Given the description of an element on the screen output the (x, y) to click on. 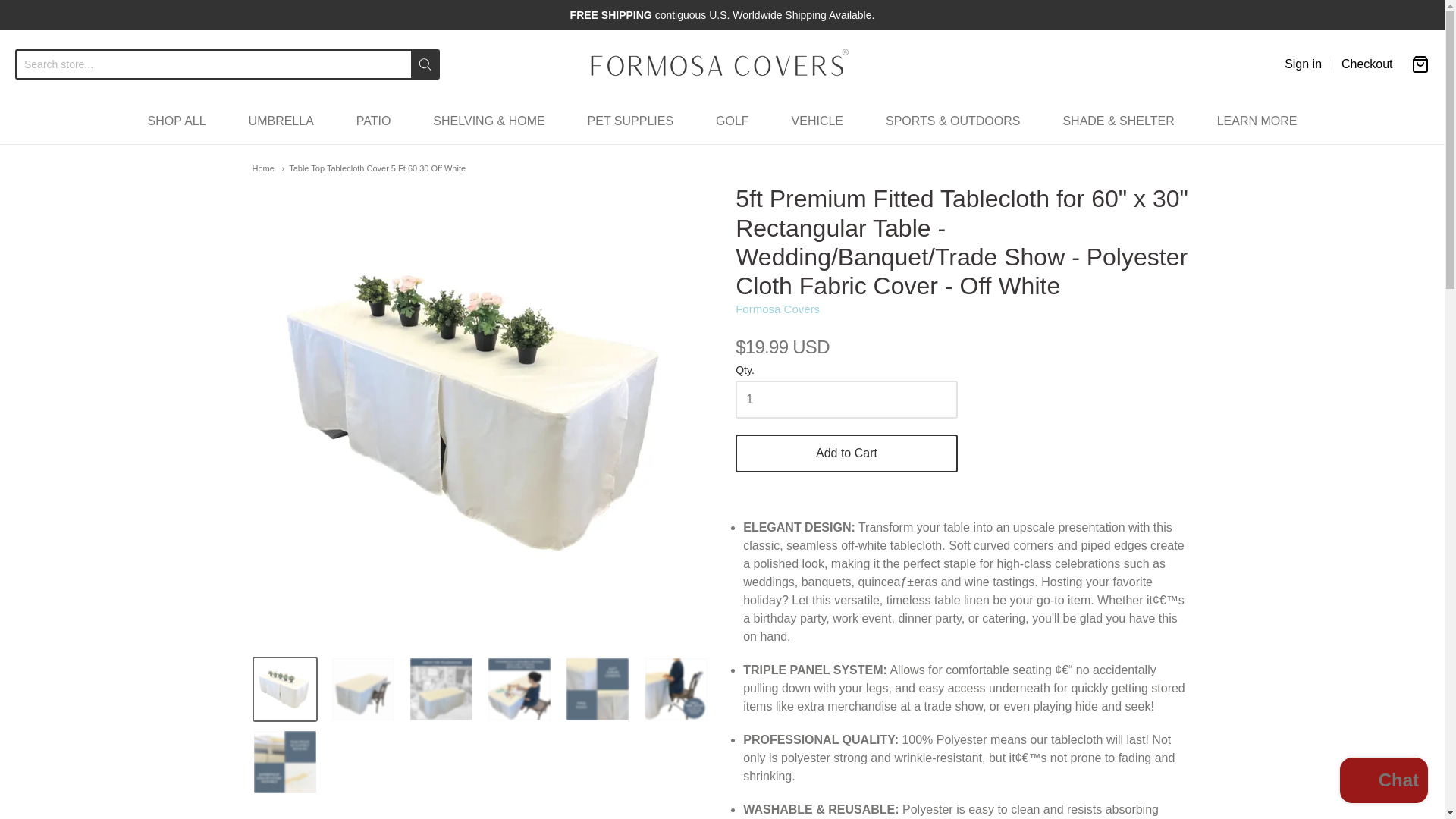
5ft Premium Fitted Tablecloth for 60 x 30 Rectangular Table (363, 688)
5ft Premium Fitted Tablecloth for 60 x 30 Rectangular Table (284, 688)
1 (846, 399)
5ft Premium Fitted Tablecloth for 60 x 30 Rectangular Table (518, 688)
Formosa Covers (777, 308)
Formosa Covers (722, 63)
Home (262, 167)
5ft Premium Fitted Tablecloth for 60 x 30 Rectangular Table (676, 688)
5ft Premium Fitted Tablecloth for 60 x 30 Rectangular Table (597, 688)
